Given the description of an element on the screen output the (x, y) to click on. 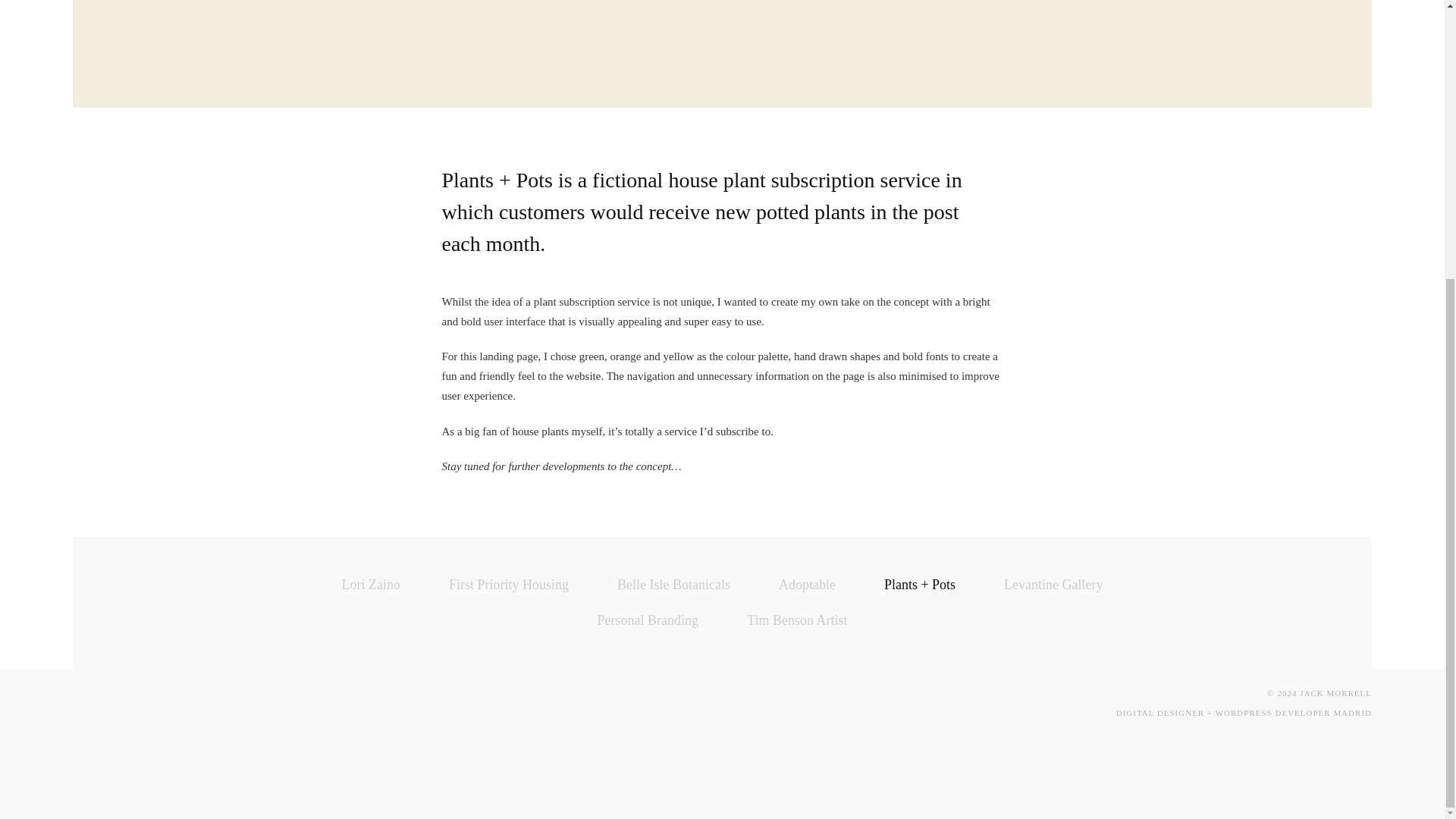
Belle Isle Botanicals (673, 584)
First Priority Housing (508, 584)
Levantine Gallery (1053, 584)
Lori Zaino (369, 584)
Adoptable (806, 584)
Tim Benson Artist (796, 620)
Personal Branding (647, 620)
